Given the description of an element on the screen output the (x, y) to click on. 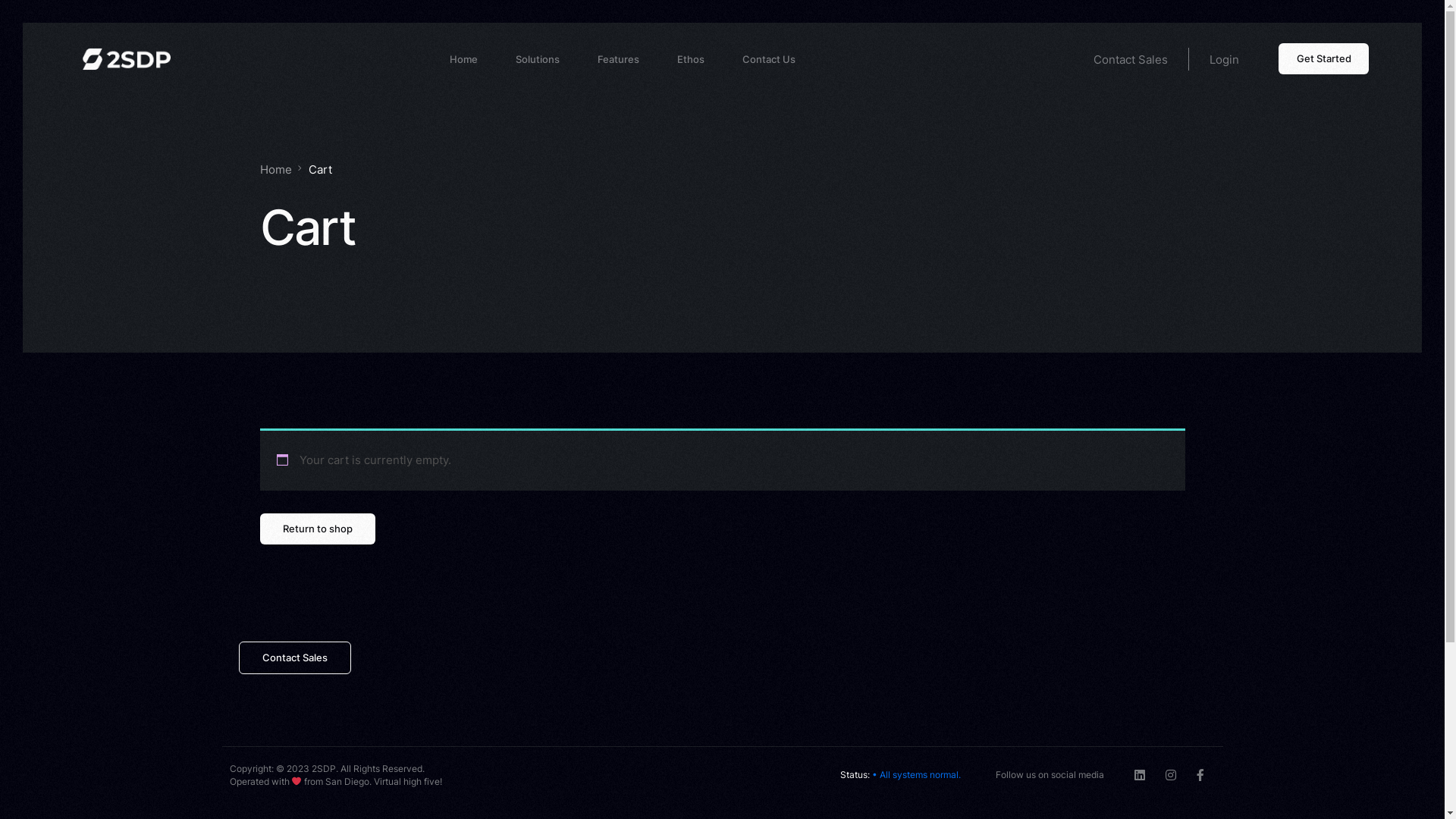
Home Element type: text (275, 169)
email Element type: text (303, 617)
Home Element type: text (463, 58)
Features Element type: text (618, 58)
Return to shop Element type: text (316, 528)
Contact Us Element type: text (768, 58)
Get Started Element type: text (1323, 58)
Contact Sales Element type: text (294, 657)
Contact Sales Element type: text (1131, 58)
Ethos Element type: text (690, 58)
Login Element type: text (1224, 59)
Solutions Element type: text (537, 58)
+1 (888) 988-2SDP Element type: text (407, 617)
